Given the description of an element on the screen output the (x, y) to click on. 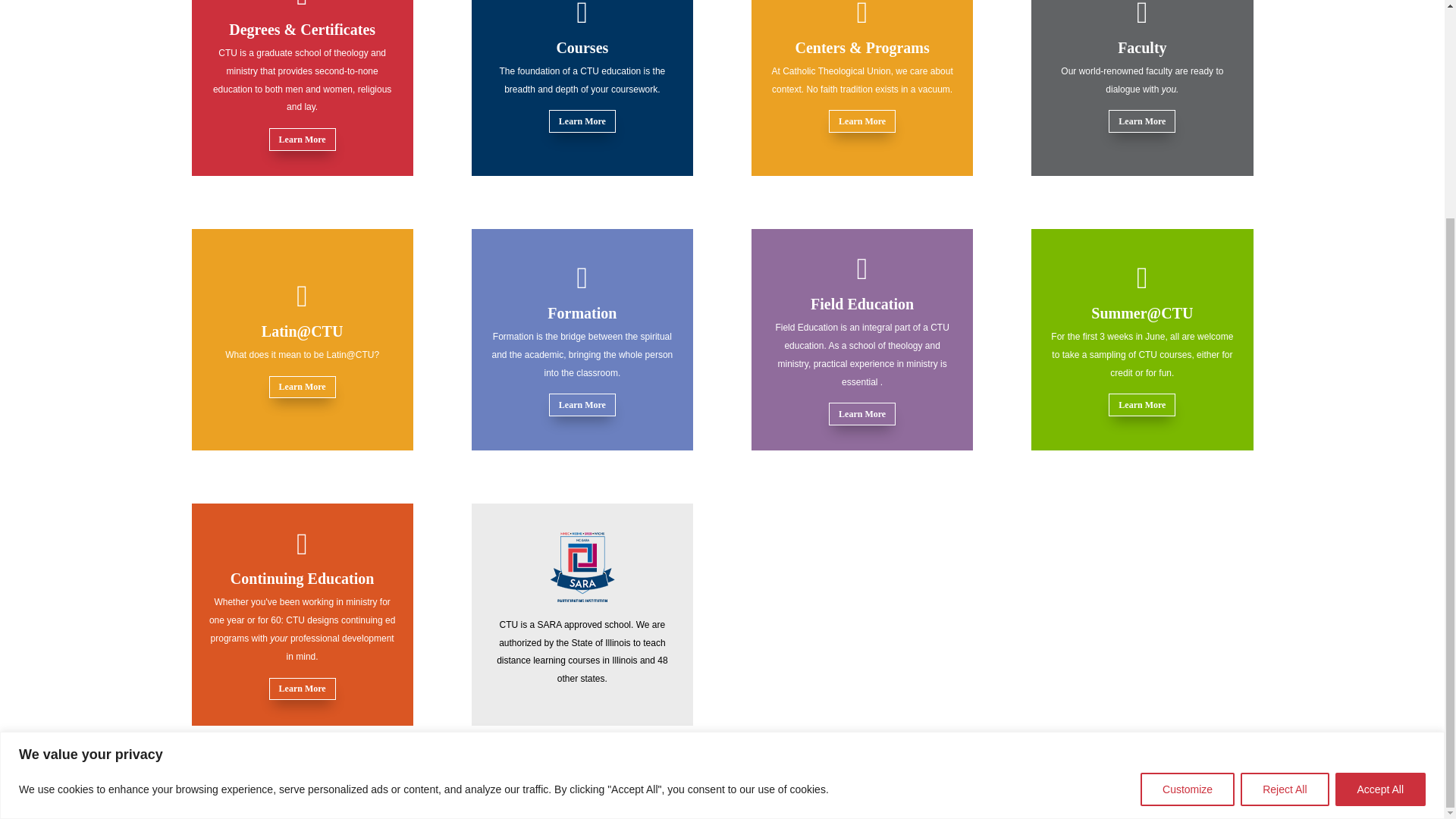
Reject All (1283, 500)
Customize (1187, 500)
Accept All (1380, 500)
